Given the description of an element on the screen output the (x, y) to click on. 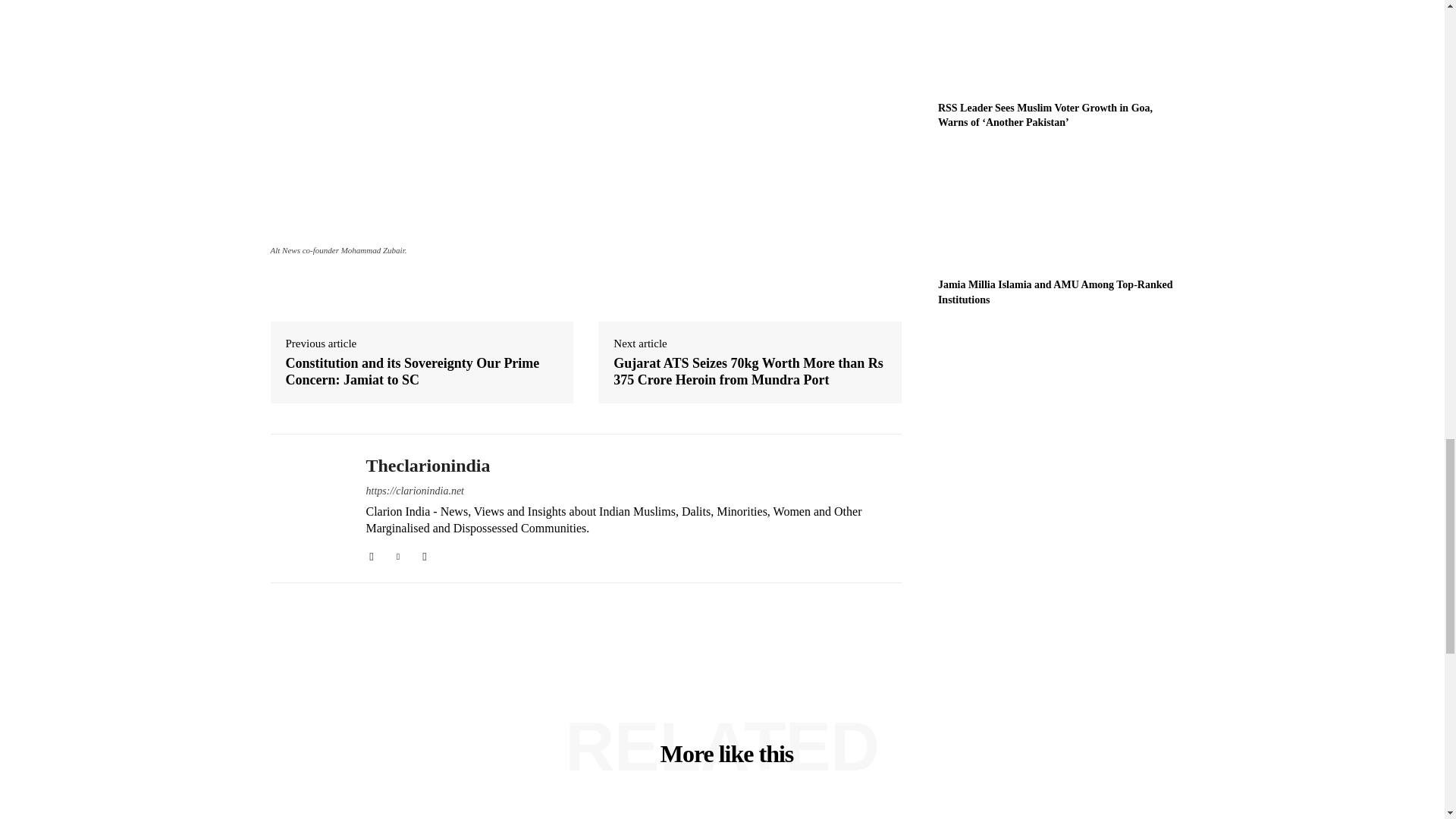
Youtube (424, 553)
Twitter (398, 553)
Facebook (371, 553)
